Given the description of an element on the screen output the (x, y) to click on. 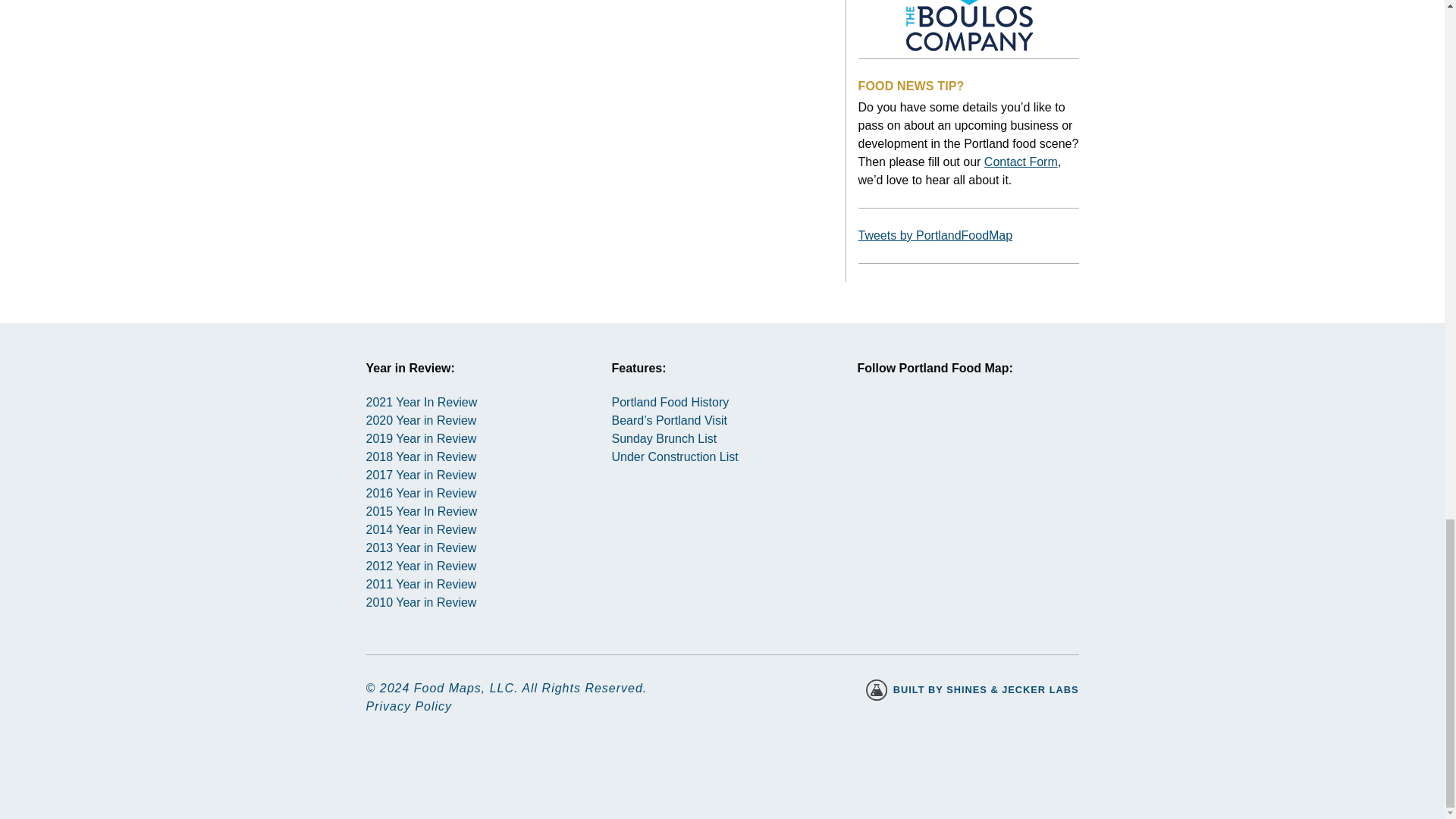
RSS icon (992, 427)
Twitter icon (938, 427)
Instagram icon (882, 427)
